Given the description of an element on the screen output the (x, y) to click on. 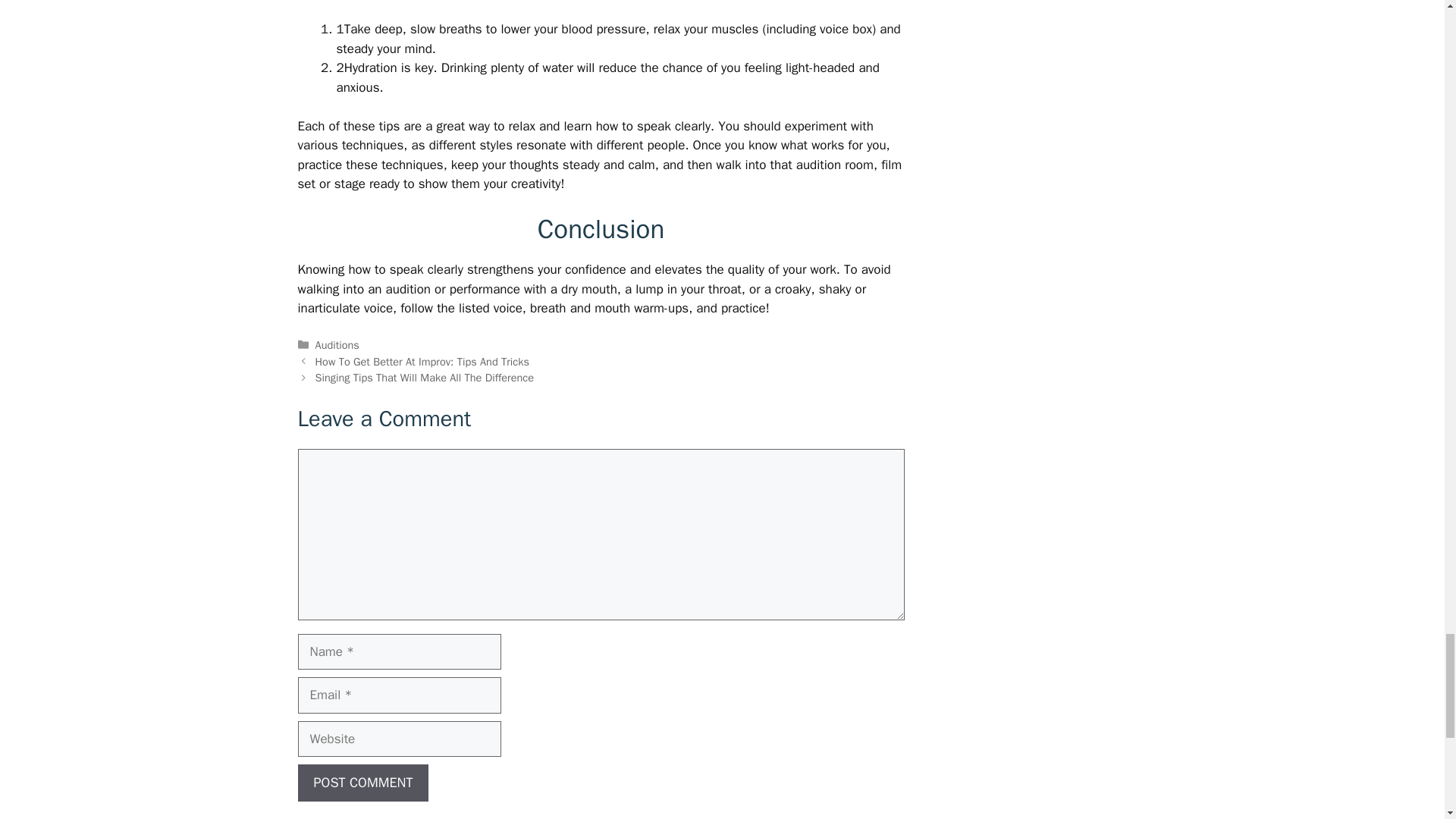
Post Comment (362, 782)
Auditions (337, 345)
How To Get Better At Improv: Tips And Tricks (422, 361)
Singing Tips That Will Make All The Difference (424, 377)
Post Comment (362, 782)
